Given the description of an element on the screen output the (x, y) to click on. 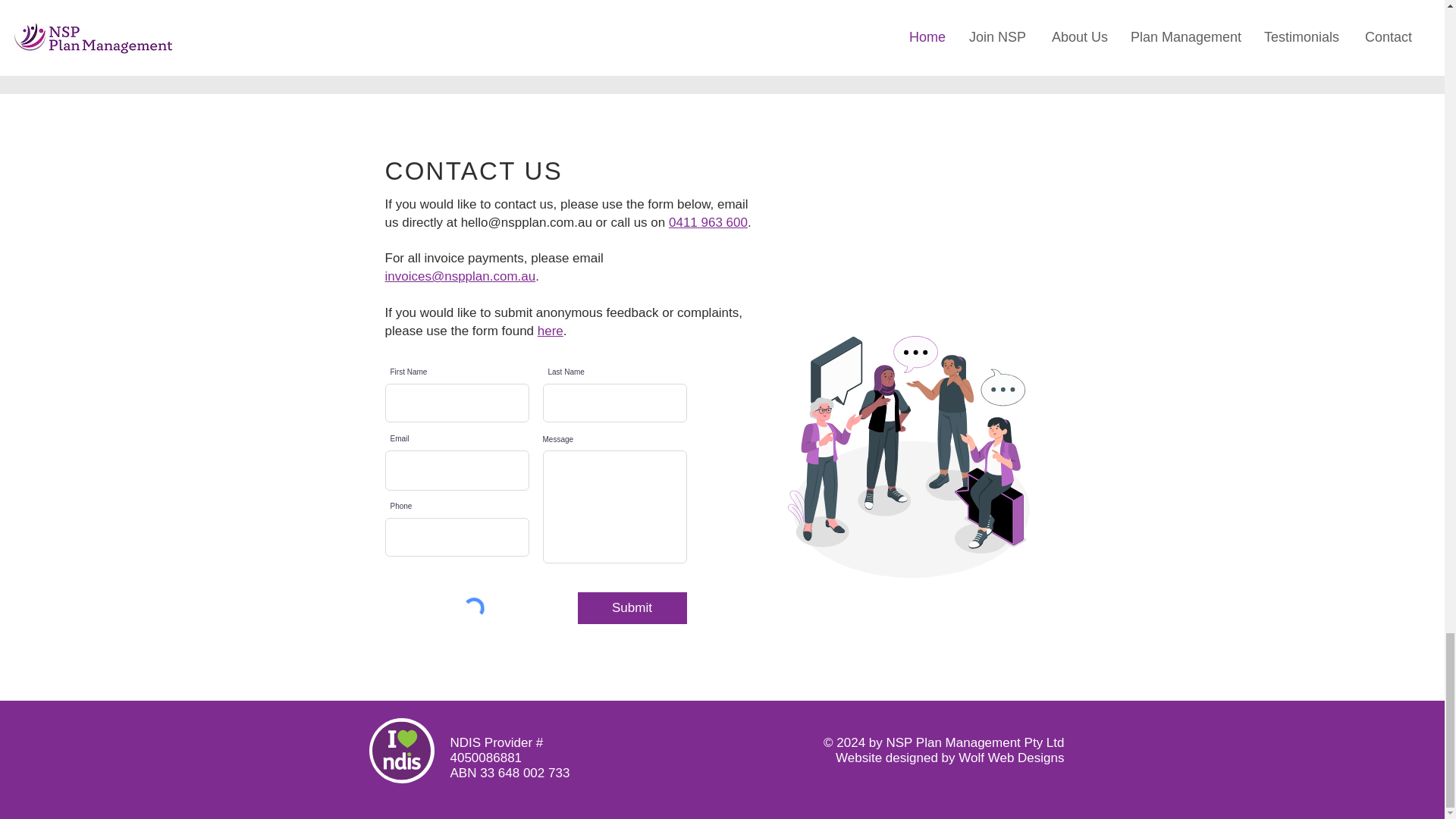
Submit (632, 608)
0411 963 600 (708, 222)
here (550, 330)
Wolf Web Designs (1011, 757)
